Given the description of an element on the screen output the (x, y) to click on. 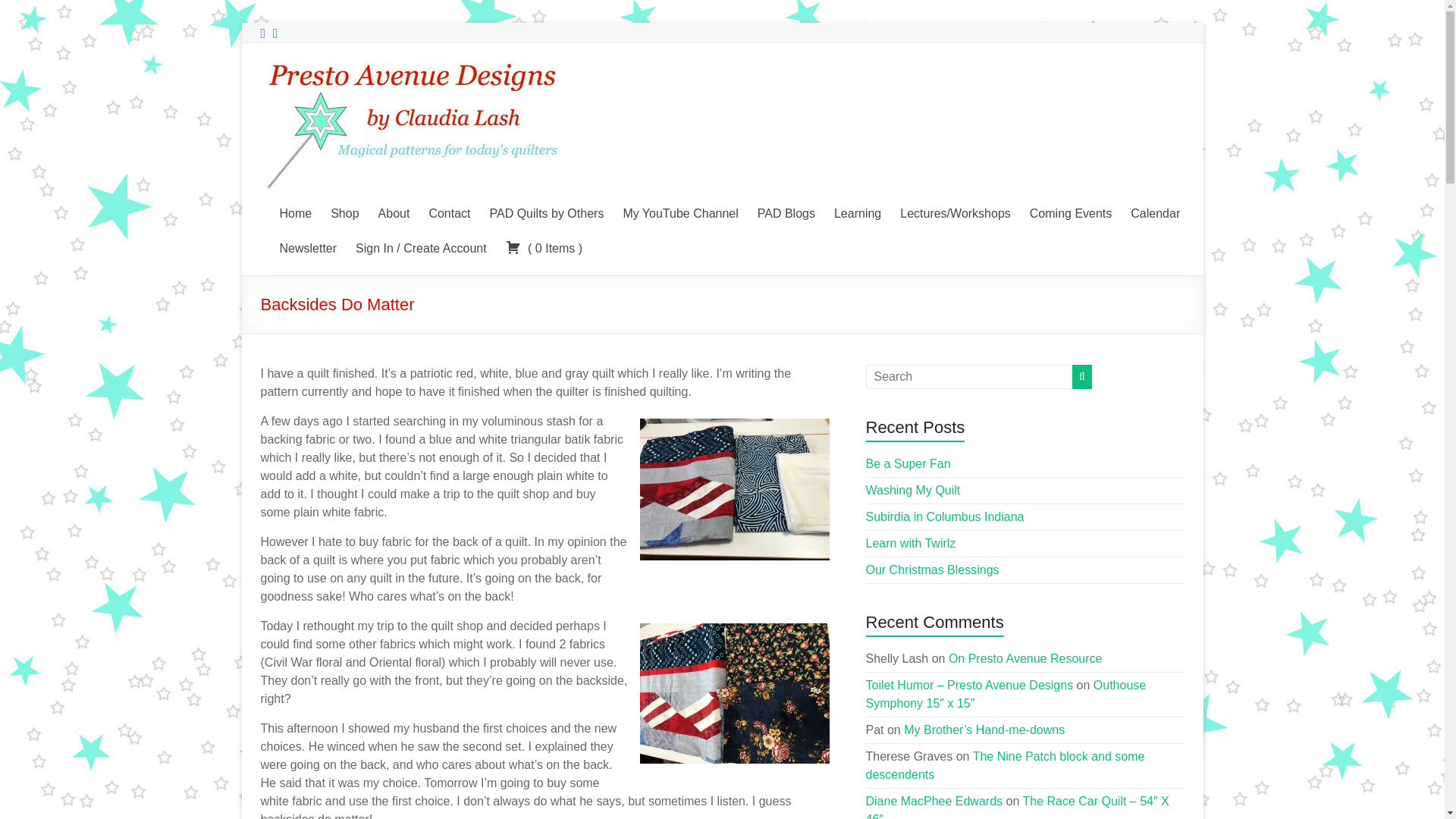
Calendar (1155, 211)
About (394, 211)
Contact (449, 211)
Learning (857, 211)
PAD Quilts by Others (546, 211)
Newsletter (307, 246)
Home (295, 211)
My YouTube Channel (680, 211)
PAD Blogs (786, 211)
Coming Events (1070, 211)
